Given the description of an element on the screen output the (x, y) to click on. 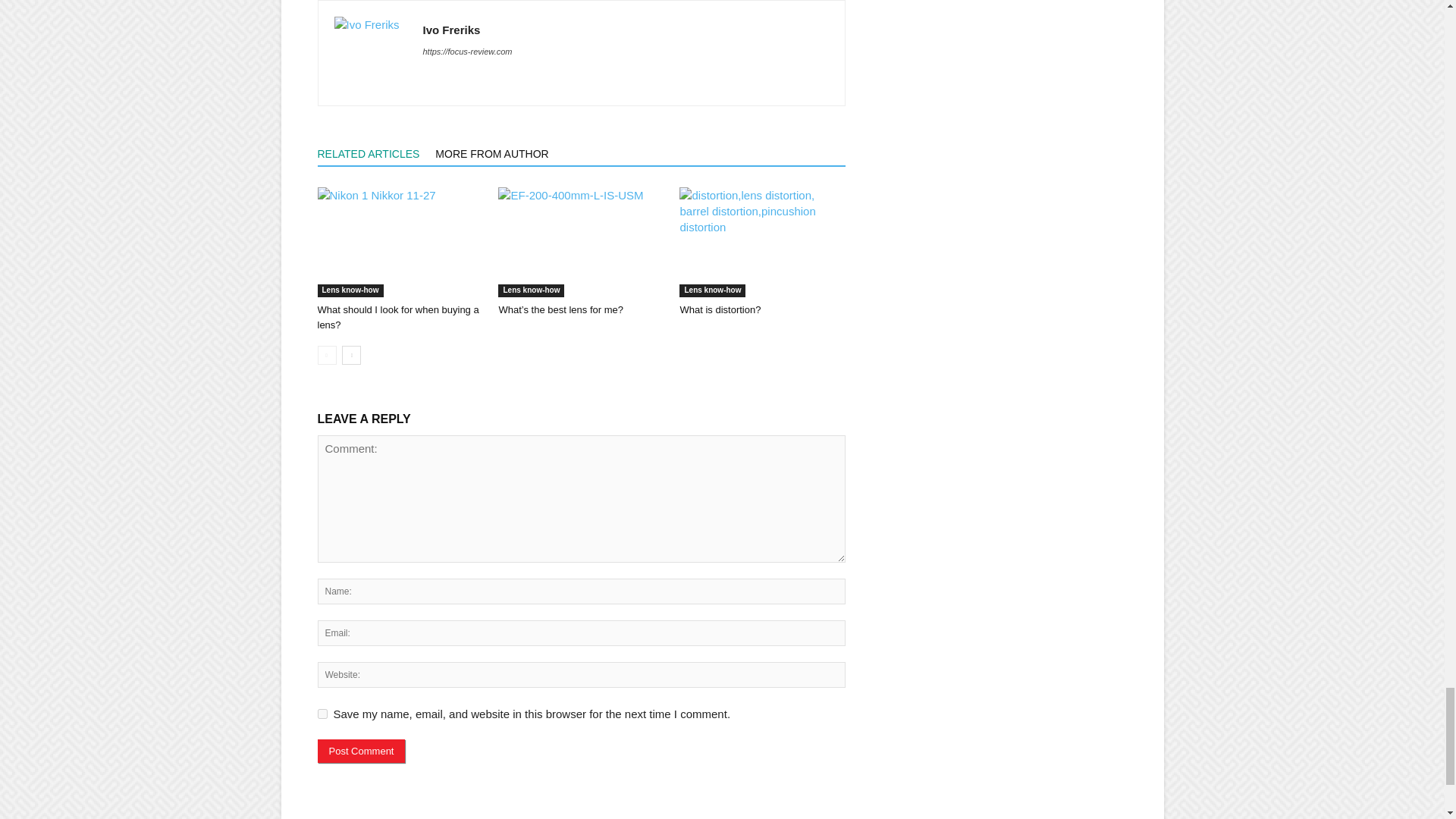
yes (321, 714)
Post Comment (360, 750)
